Given the description of an element on the screen output the (x, y) to click on. 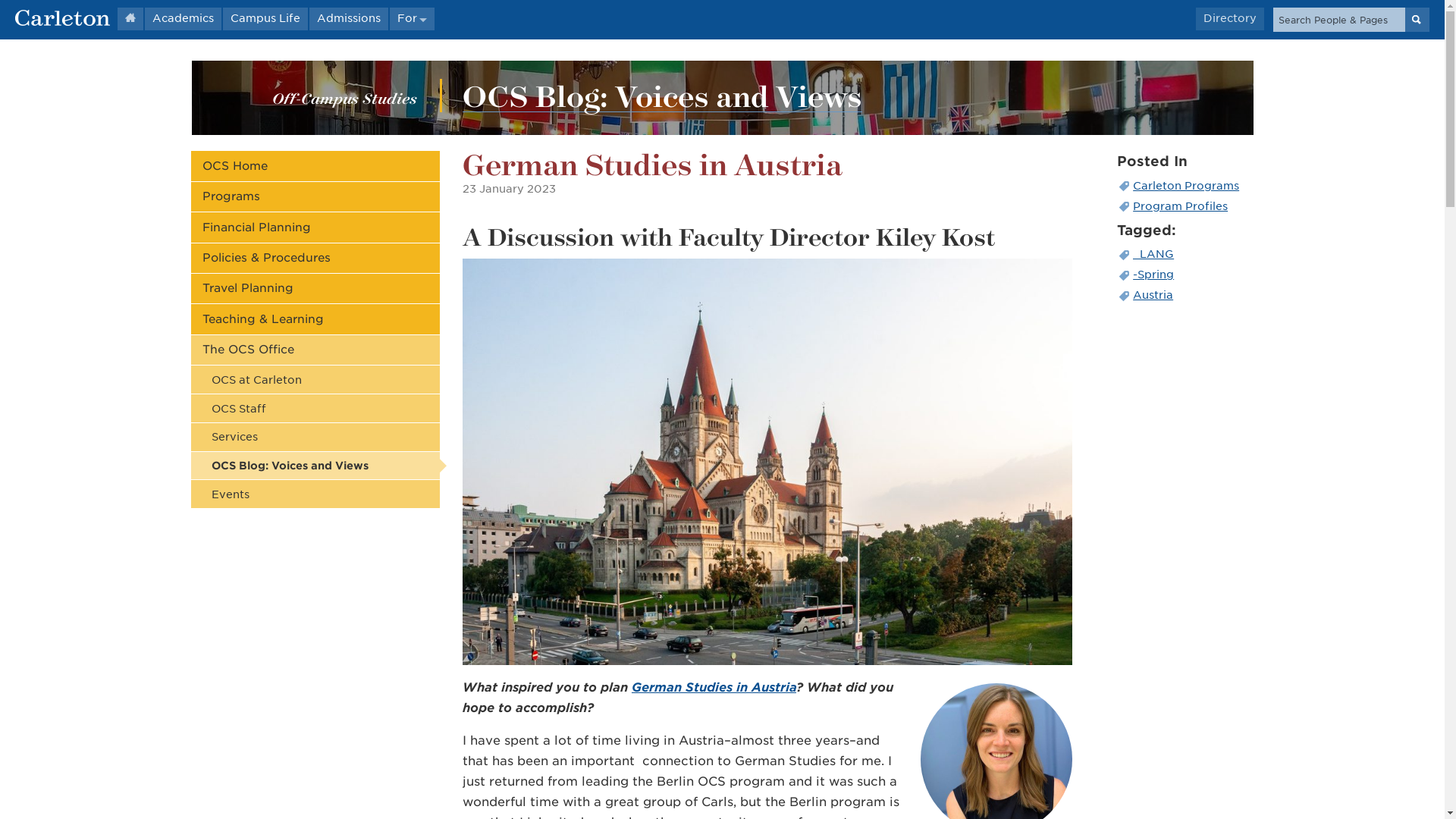
-Spring (1184, 273)
Program Profiles (1184, 205)
Academics (182, 18)
Travel Planning (314, 288)
Carleton Programs (1184, 185)
Off-Campus Studies (344, 97)
German Studies in Austria (713, 687)
Financial Planning (314, 226)
Austria (1184, 294)
OCS Home (314, 165)
OCS Blog: Voices and Views (662, 95)
Directory (1229, 18)
Admissions (348, 18)
Programs (314, 196)
Campus Directory (1229, 18)
